Given the description of an element on the screen output the (x, y) to click on. 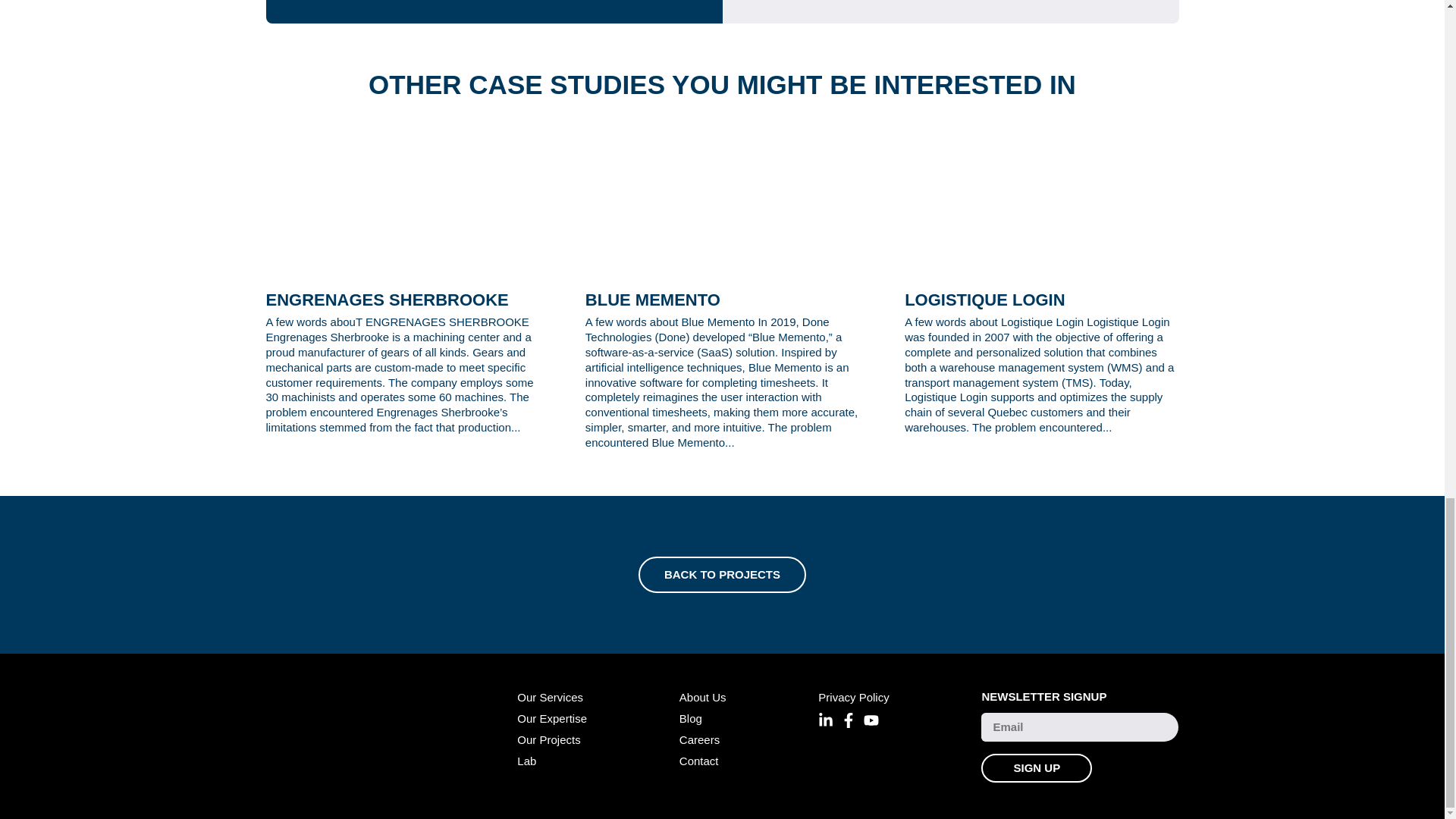
Sign Up (1036, 767)
